Given the description of an element on the screen output the (x, y) to click on. 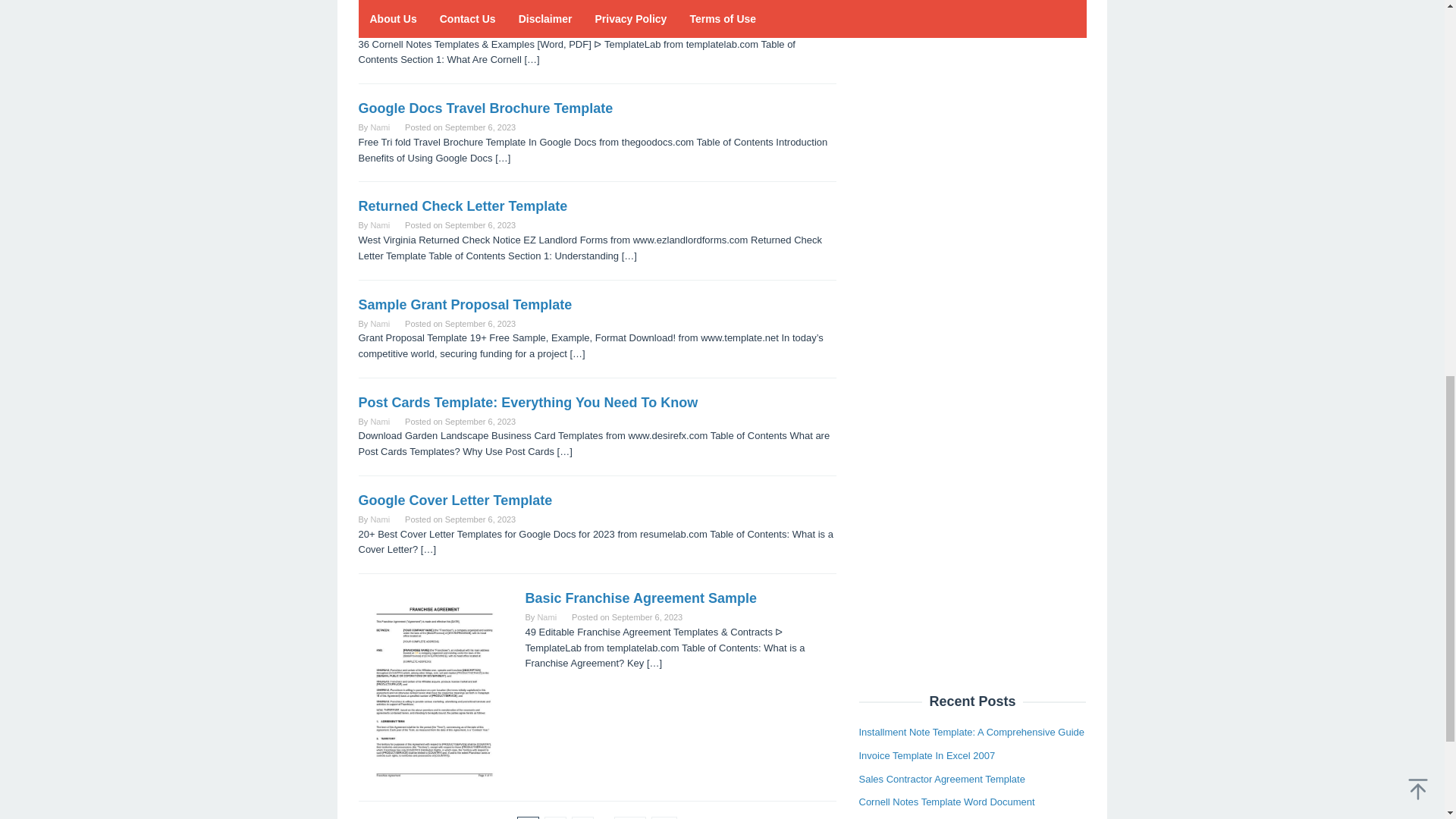
Returned Check Letter Template (462, 206)
Cornell Notes Template Word Document (487, 10)
2 (555, 817)
Google Cover Letter Template (454, 500)
Permalink to: Nami (379, 29)
Permalink to: Cornell Notes Template Word Document (487, 10)
689 (630, 817)
Nami (379, 323)
Nami (546, 616)
Post Cards Template: Everything You Need To Know (527, 402)
Nami (379, 519)
3 (583, 817)
Invoice Template In Excel 2007 (926, 425)
Permalink to: Nami (379, 126)
Sales Contractor Agreement Template (942, 449)
